Given the description of an element on the screen output the (x, y) to click on. 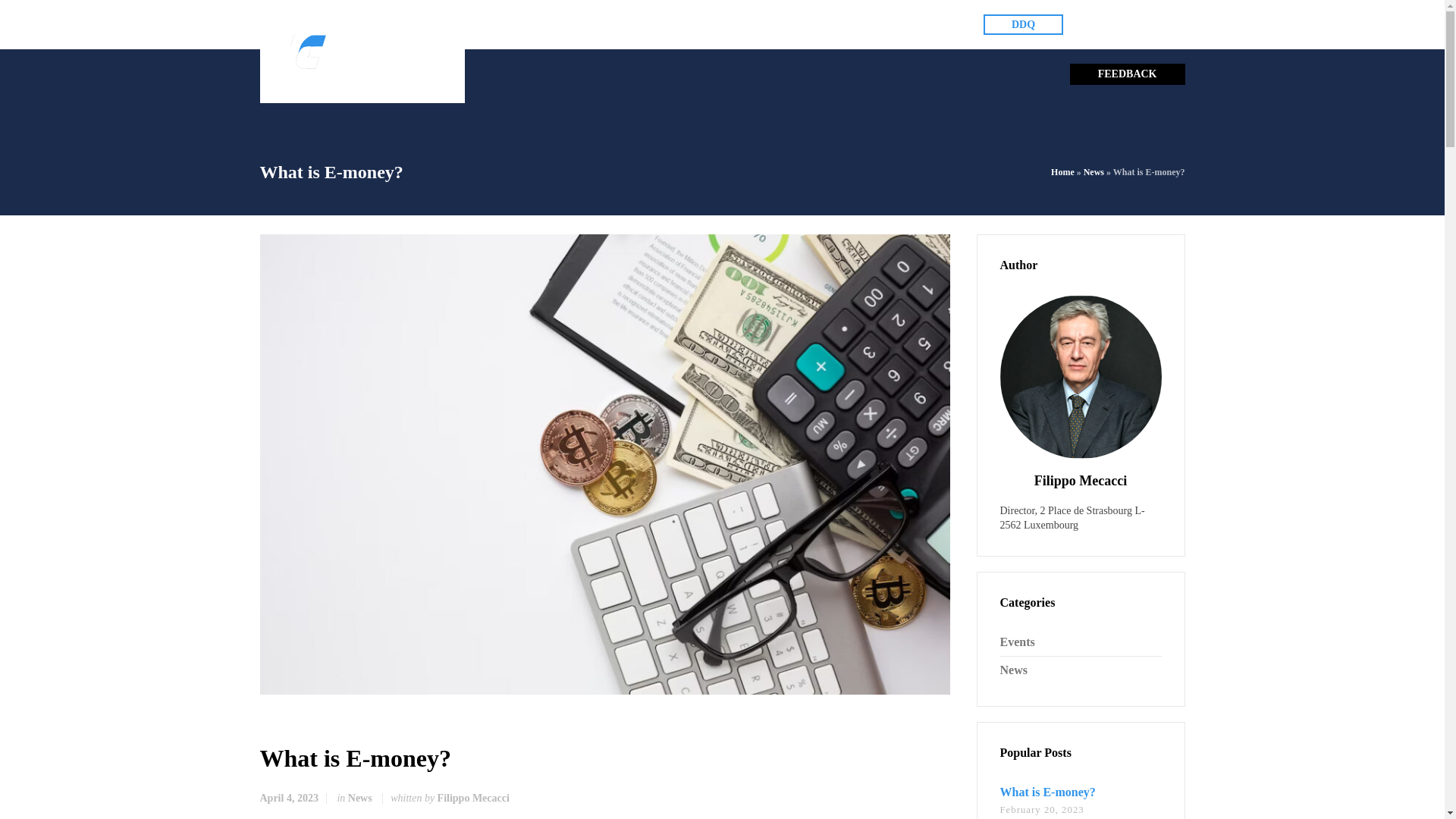
Services (667, 24)
About Us (504, 24)
Our Management (584, 24)
Services (667, 24)
Our Management (584, 24)
About Us (504, 24)
Thales Capital (361, 51)
